Given the description of an element on the screen output the (x, y) to click on. 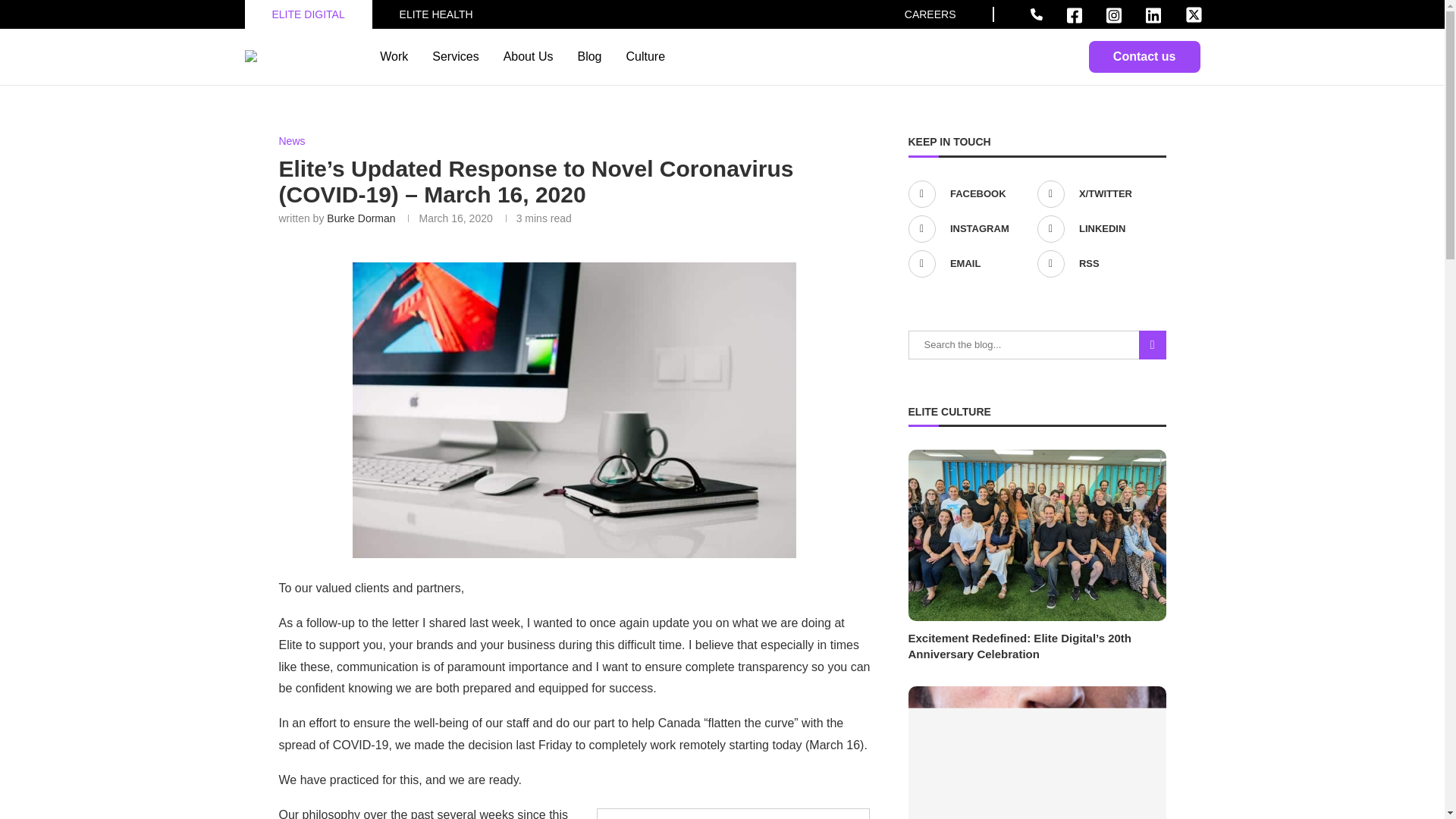
About Us (528, 56)
Contact us (1144, 56)
Culture (645, 56)
CAREERS (929, 14)
ELITE HEALTH (435, 14)
Work (393, 56)
ELITE DIGITAL (306, 14)
Blog (588, 56)
News (292, 141)
Services (455, 56)
